Given the description of an element on the screen output the (x, y) to click on. 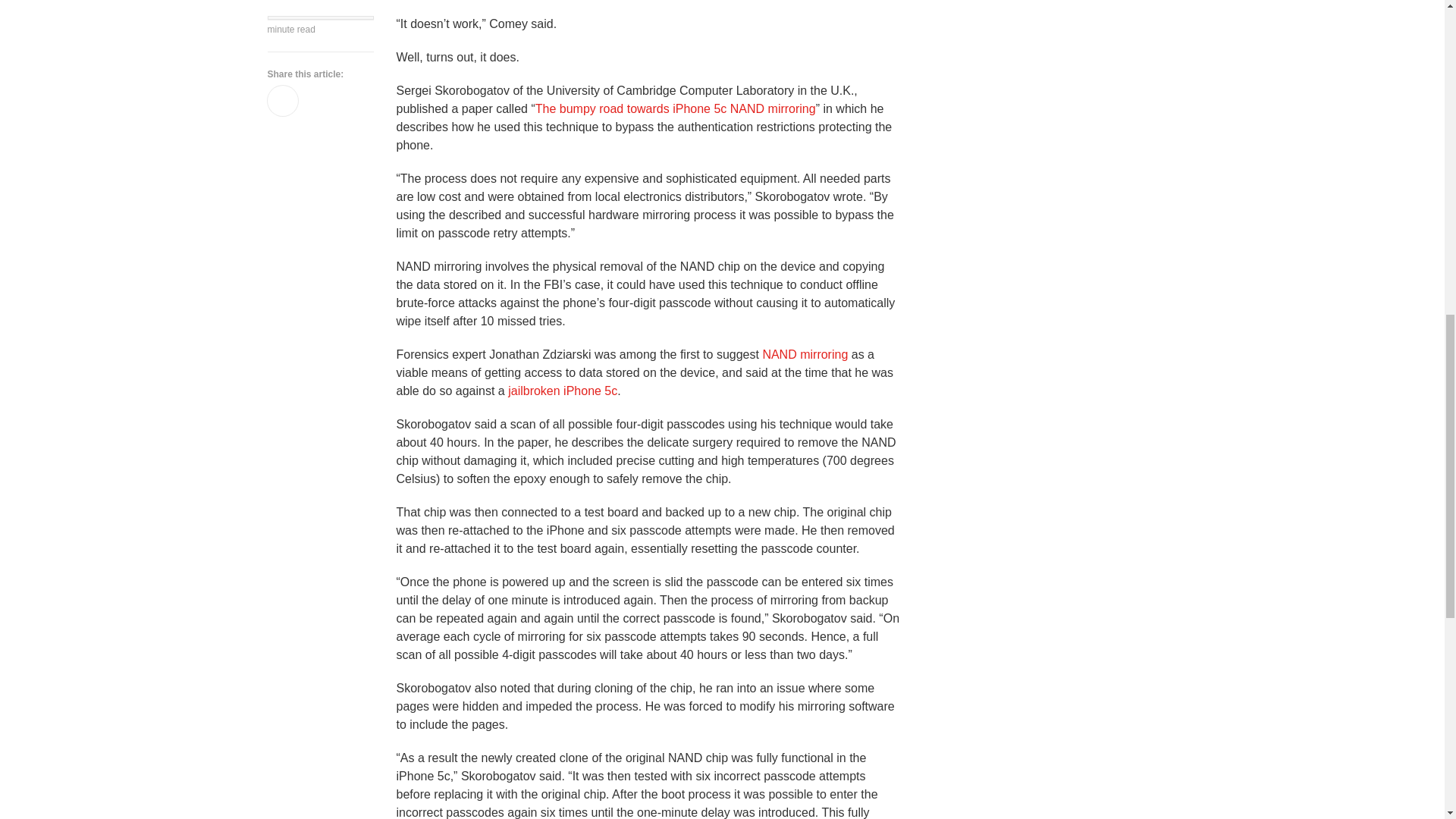
jailbroken iPhone 5c (562, 390)
The bumpy road towards iPhone 5c NAND mirroring (675, 108)
NAND mirroring (804, 354)
